Given the description of an element on the screen output the (x, y) to click on. 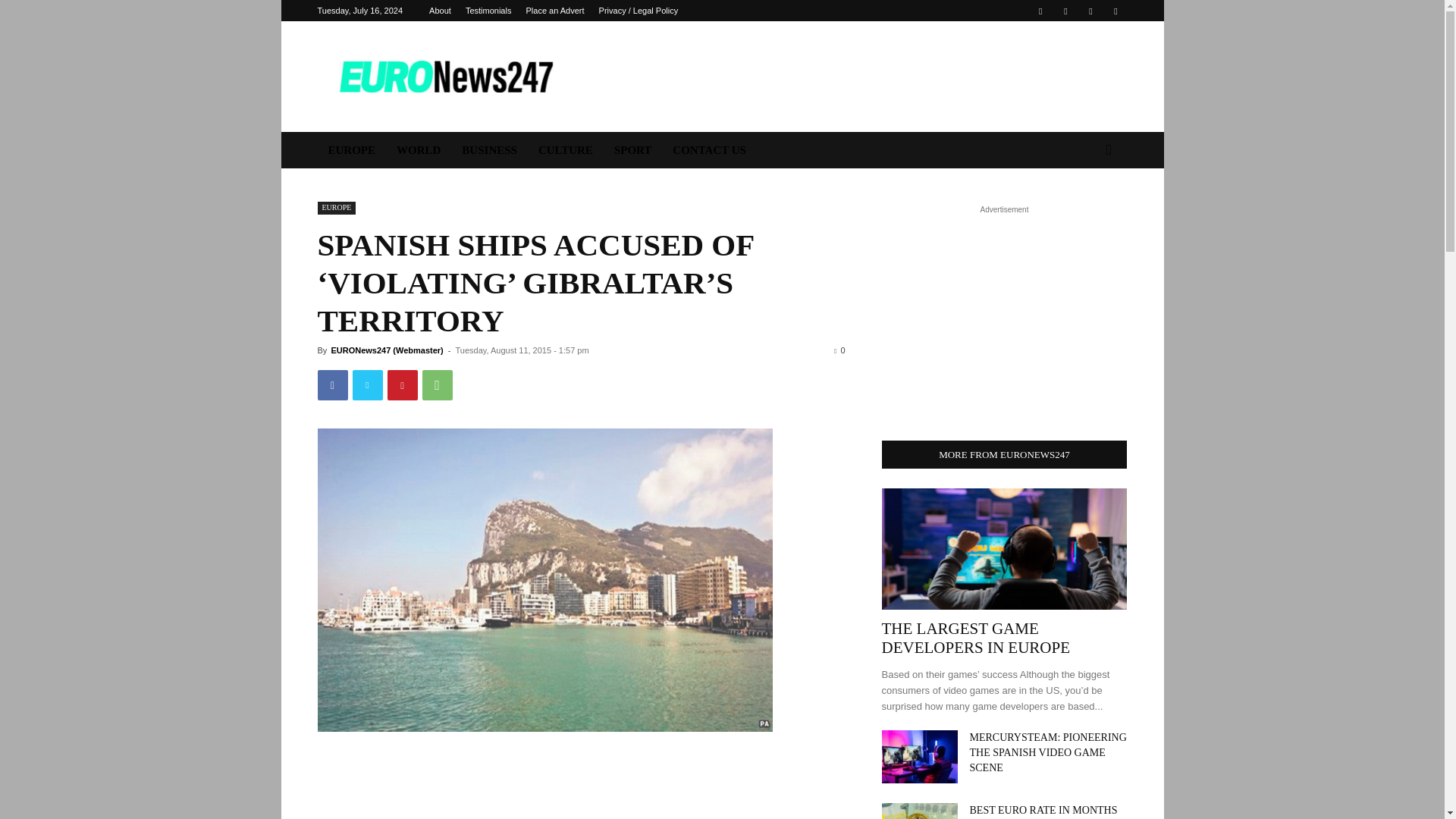
Mail (1065, 10)
EuroNews247 (445, 76)
WhatsApp (436, 385)
Facebook (1040, 10)
EUROPE (351, 149)
RSS (1090, 10)
Place an Advert (554, 10)
0 (839, 349)
WORLD (418, 149)
Advertisement (850, 76)
Testimonials (488, 10)
CULTURE (565, 149)
EUROPE (336, 207)
Twitter (366, 385)
Search (1085, 210)
